Given the description of an element on the screen output the (x, y) to click on. 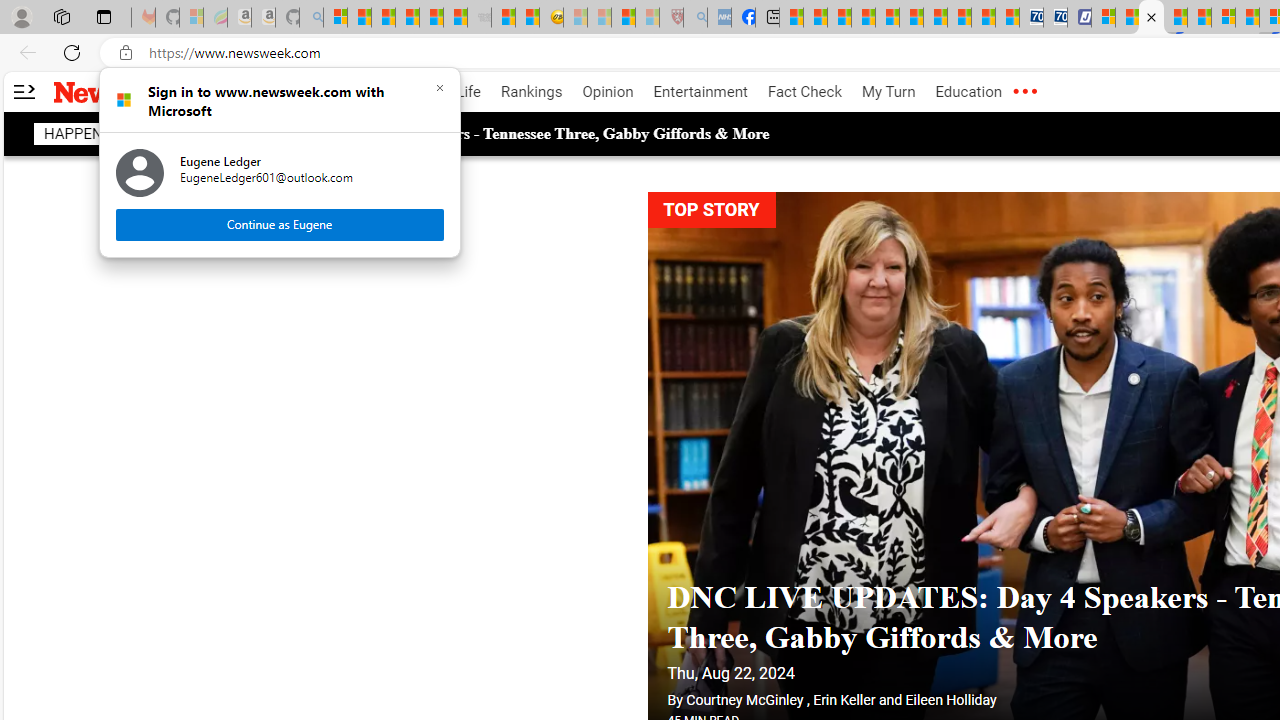
Erin Keller (843, 700)
Education (968, 92)
Fact Check (804, 92)
AutomationID: moreOptions (1023, 92)
My Turn (888, 92)
